Given the description of an element on the screen output the (x, y) to click on. 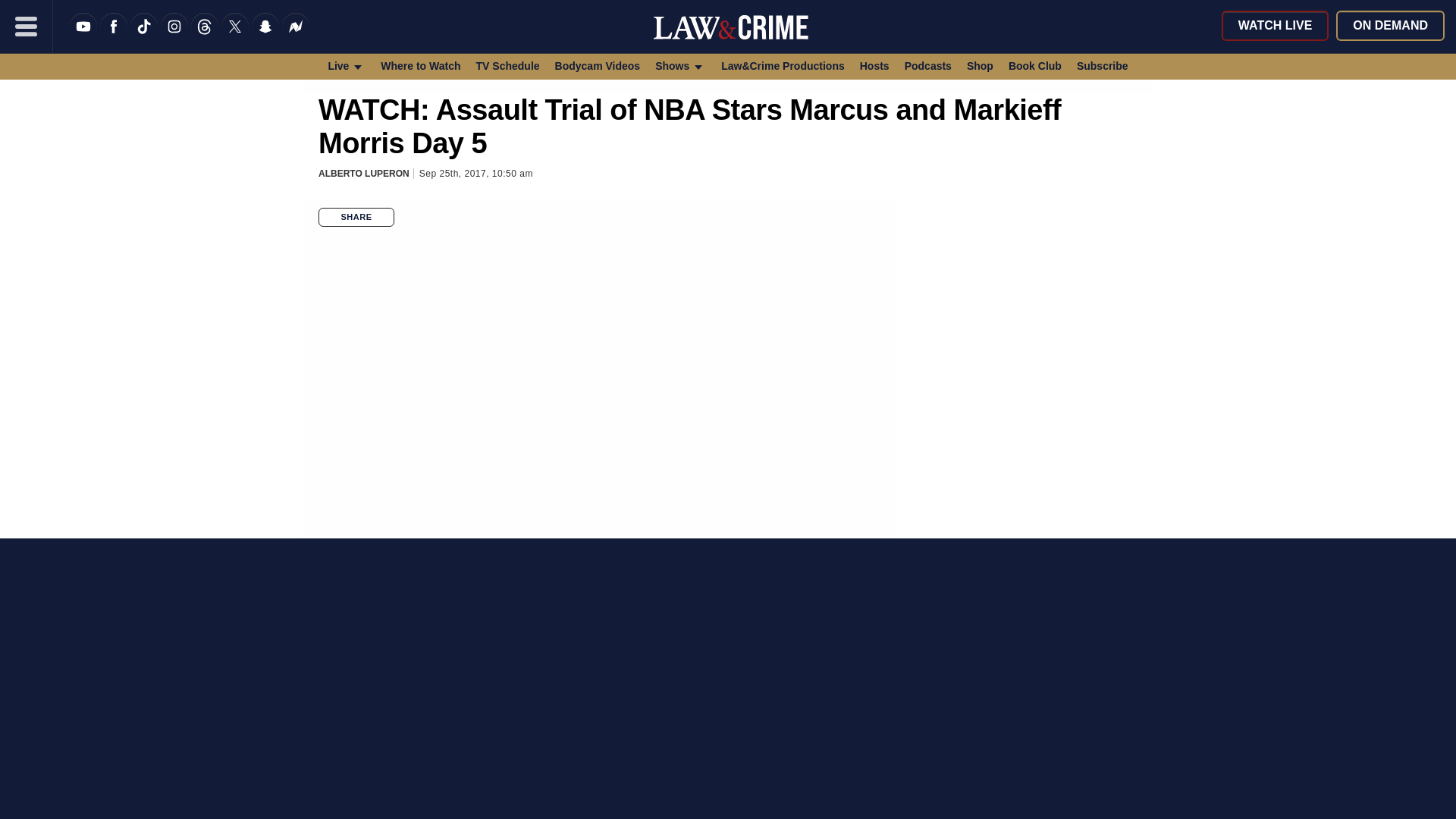
Like us on Facebook (114, 35)
Snapchat (265, 35)
Posts by Alberto Luperon (363, 173)
Threads (204, 35)
Instagram (173, 35)
YouTube (83, 35)
News Break (295, 35)
TikTok (144, 35)
